Given the description of an element on the screen output the (x, y) to click on. 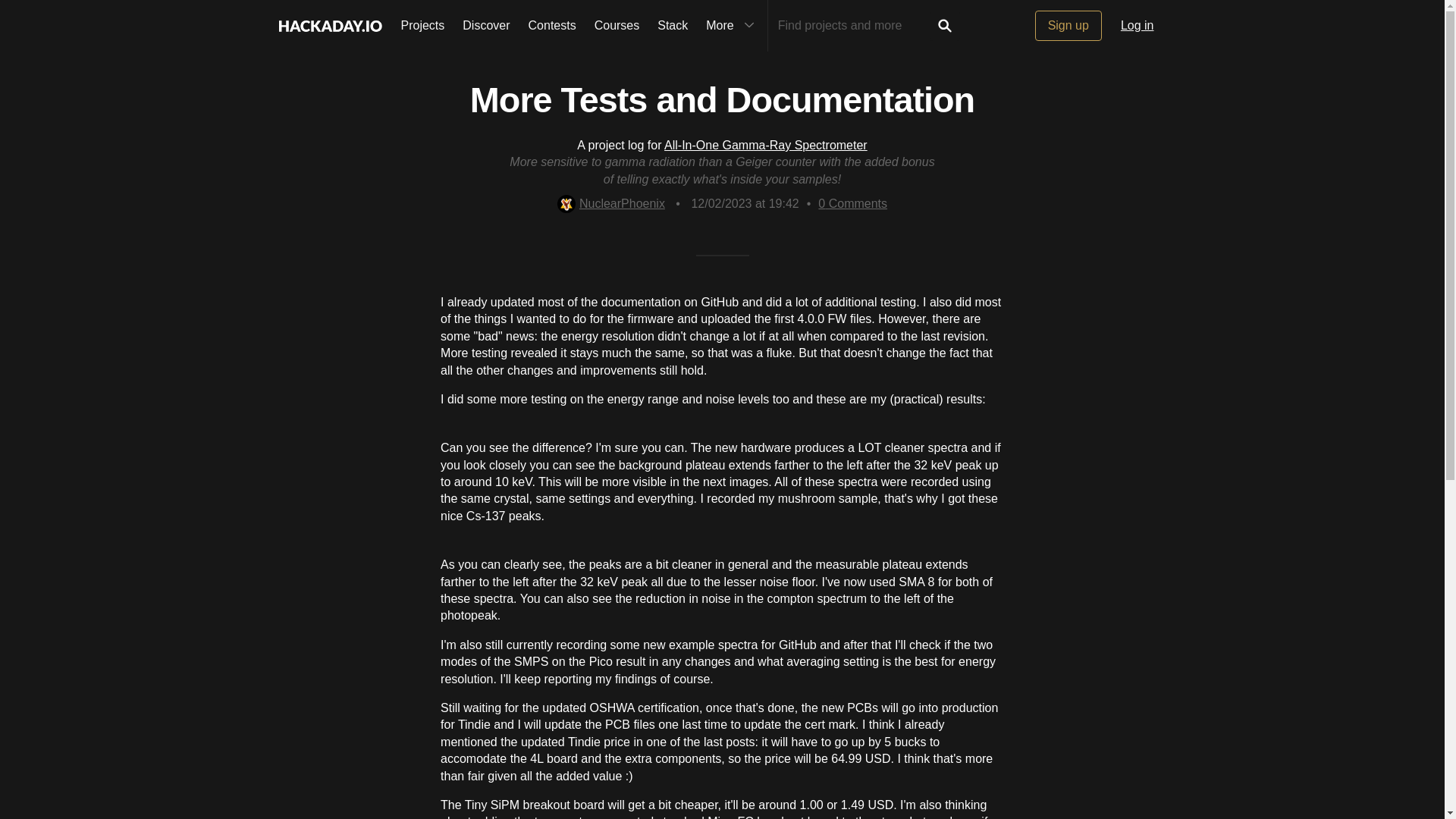
8 months ago (743, 203)
Stack (672, 25)
All-In-One Gamma-Ray Spectrometer (765, 144)
More (732, 25)
Hackaday.io (329, 25)
Log in (1137, 25)
Search (944, 25)
Projects (421, 25)
Sign up (1068, 25)
Courses (617, 25)
Contests (552, 25)
NuclearPhoenix (611, 203)
Two characters minimum (853, 25)
See Comments (852, 203)
0 Comments (852, 203)
